Given the description of an element on the screen output the (x, y) to click on. 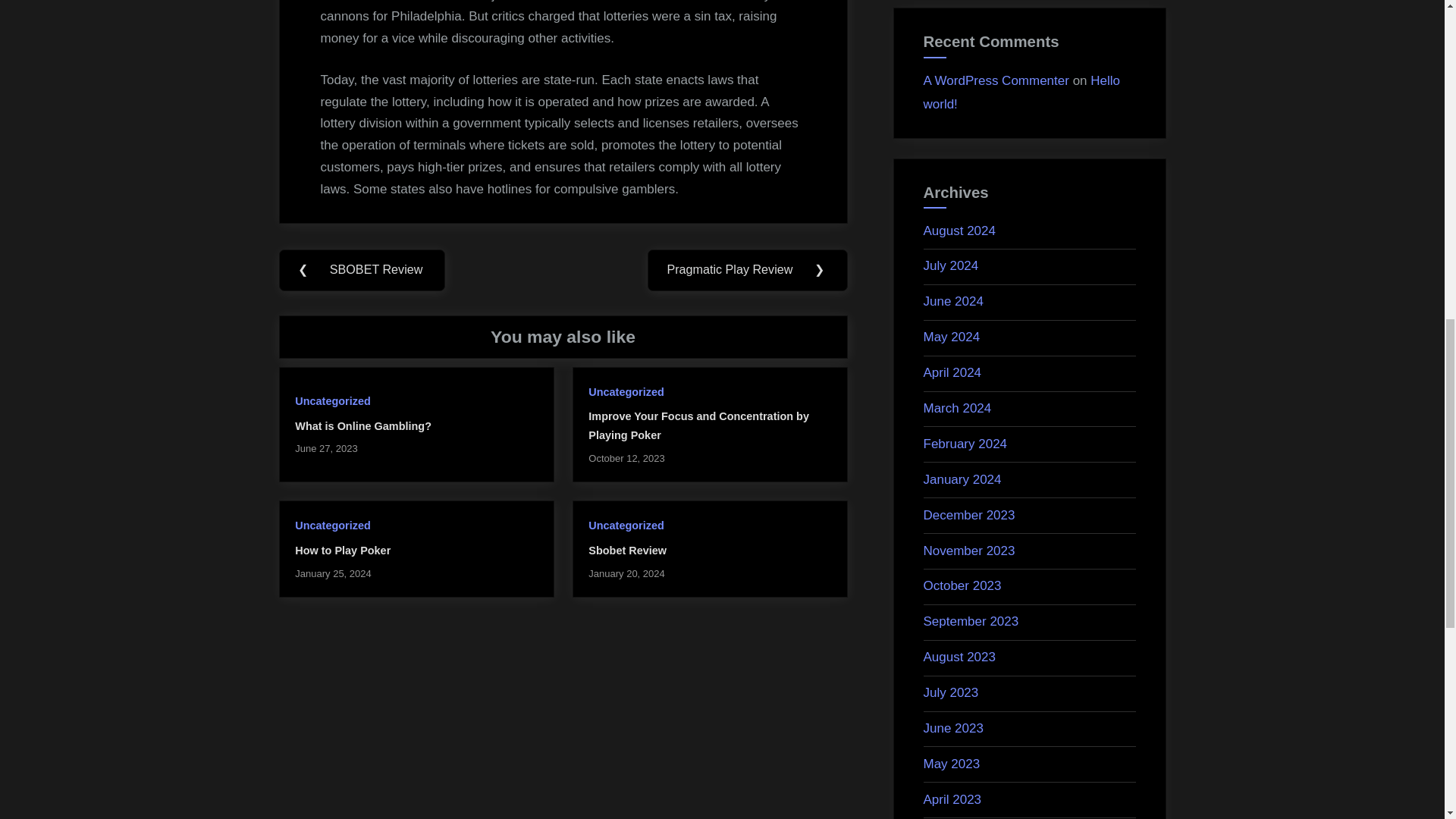
Hello world! (1022, 92)
October 2023 (962, 585)
What is Online Gambling? (362, 426)
How to Play Poker (342, 550)
A WordPress Commenter (995, 80)
November 2023 (968, 550)
February 2024 (965, 443)
Uncategorized (332, 525)
Improve Your Focus and Concentration by Playing Poker (698, 425)
Uncategorized (332, 400)
